Given the description of an element on the screen output the (x, y) to click on. 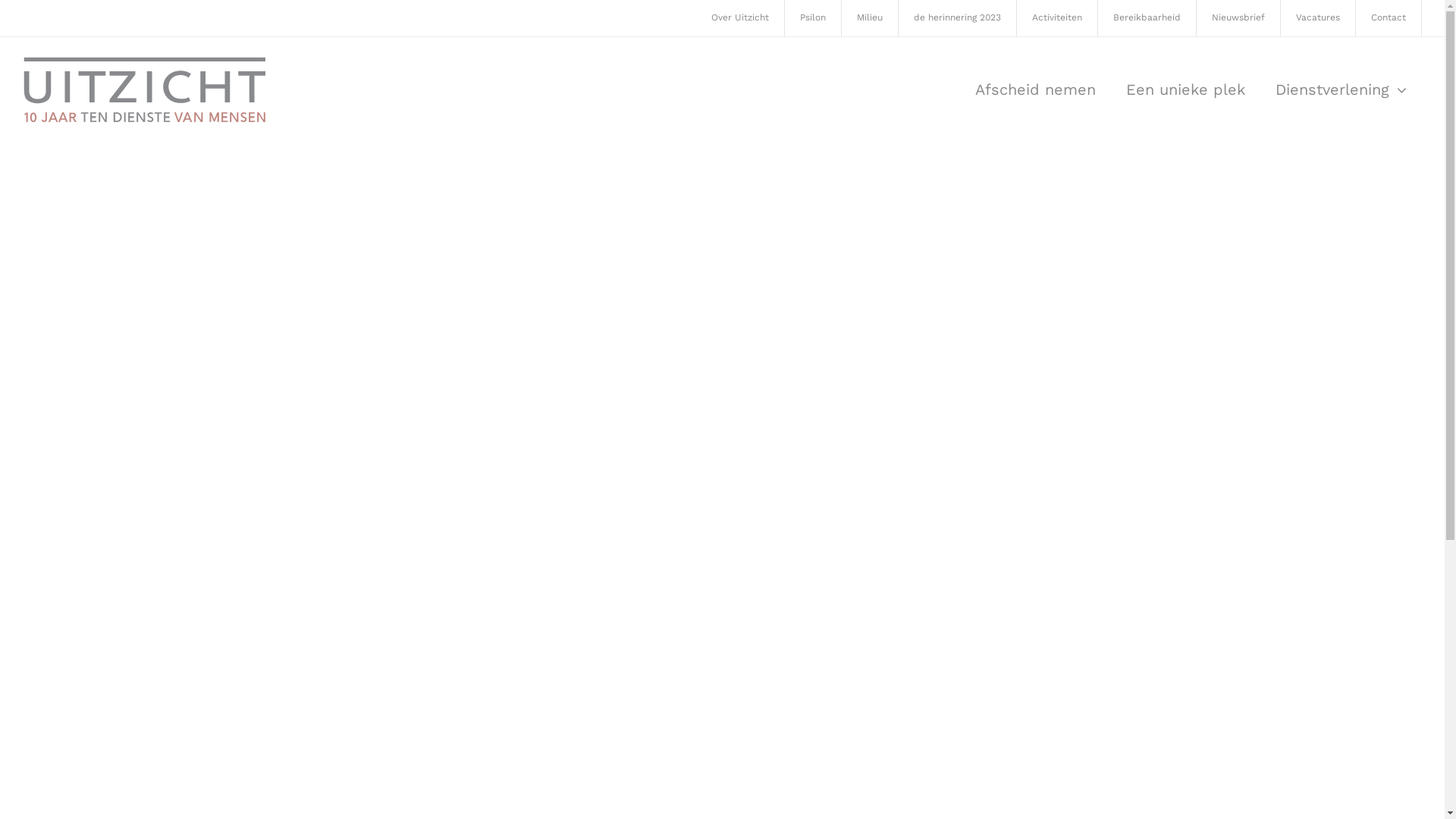
Nieuwsbrief Element type: text (1238, 18)
Afscheid nemen Element type: text (1035, 89)
Over Uitzicht Element type: text (740, 18)
Een unieke plek Element type: text (1185, 89)
de herinnering 2023 Element type: text (957, 18)
Psilon Element type: text (812, 18)
Vacatures Element type: text (1317, 18)
Milieu Element type: text (869, 18)
Activiteiten Element type: text (1057, 18)
Dienstverlening Element type: text (1340, 89)
Contact Element type: text (1388, 18)
Bereikbaarheid Element type: text (1147, 18)
